Given the description of an element on the screen output the (x, y) to click on. 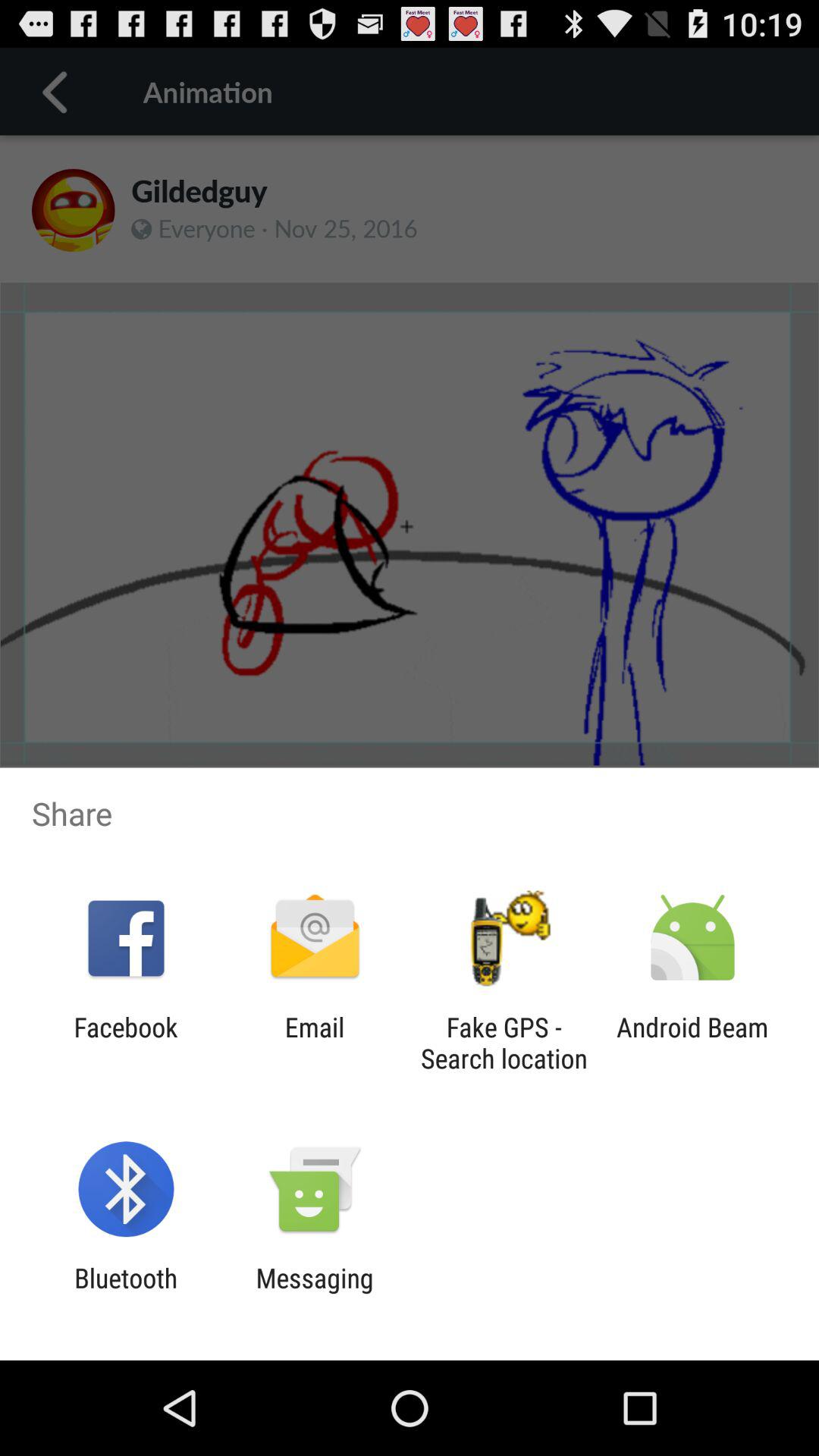
flip until the messaging item (314, 1293)
